Given the description of an element on the screen output the (x, y) to click on. 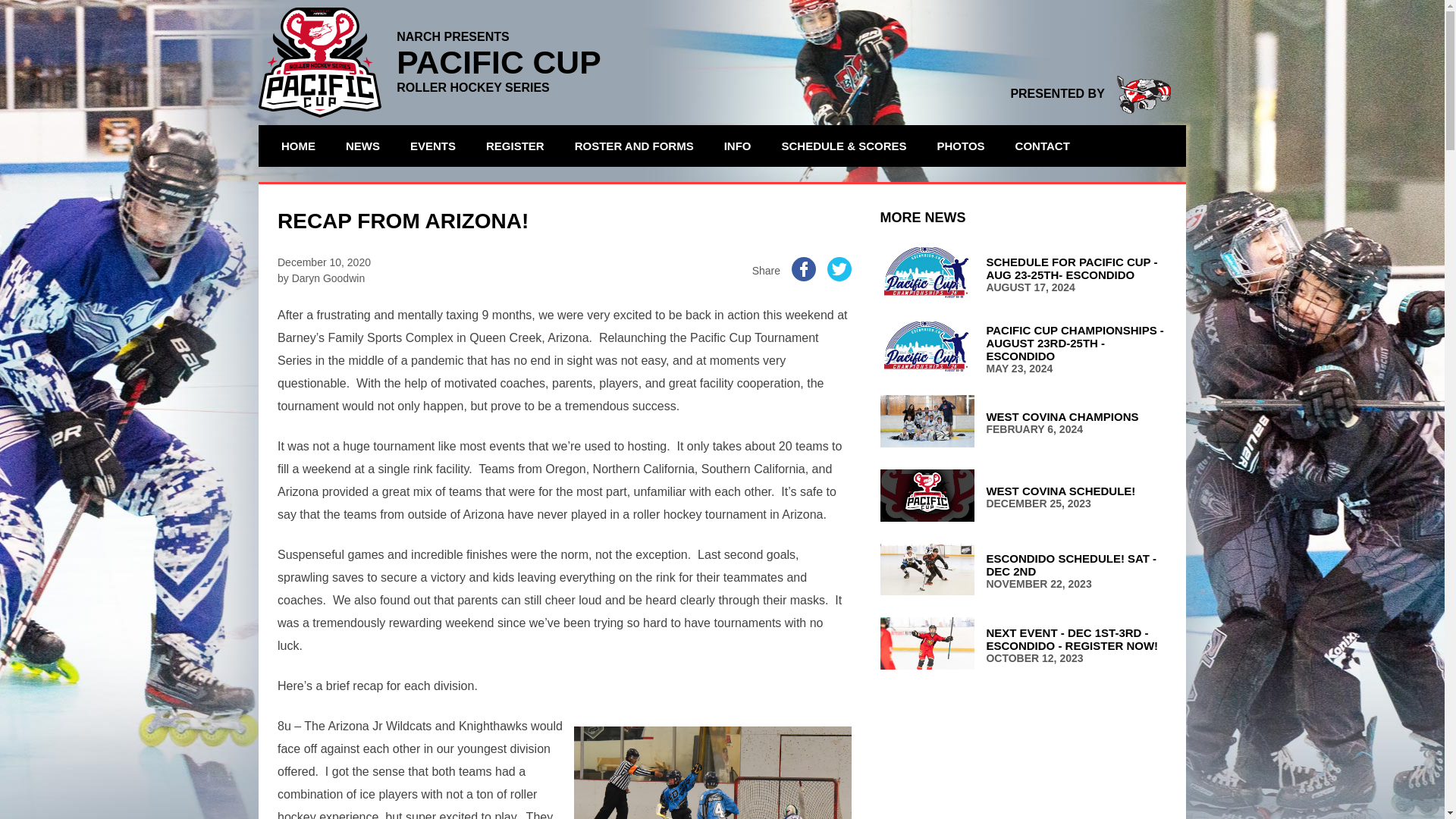
NEWS (362, 146)
EVENTS (1023, 570)
REGISTER (432, 146)
CONTACT (515, 146)
PHOTOS (1023, 422)
HOME (1042, 146)
